Given the description of an element on the screen output the (x, y) to click on. 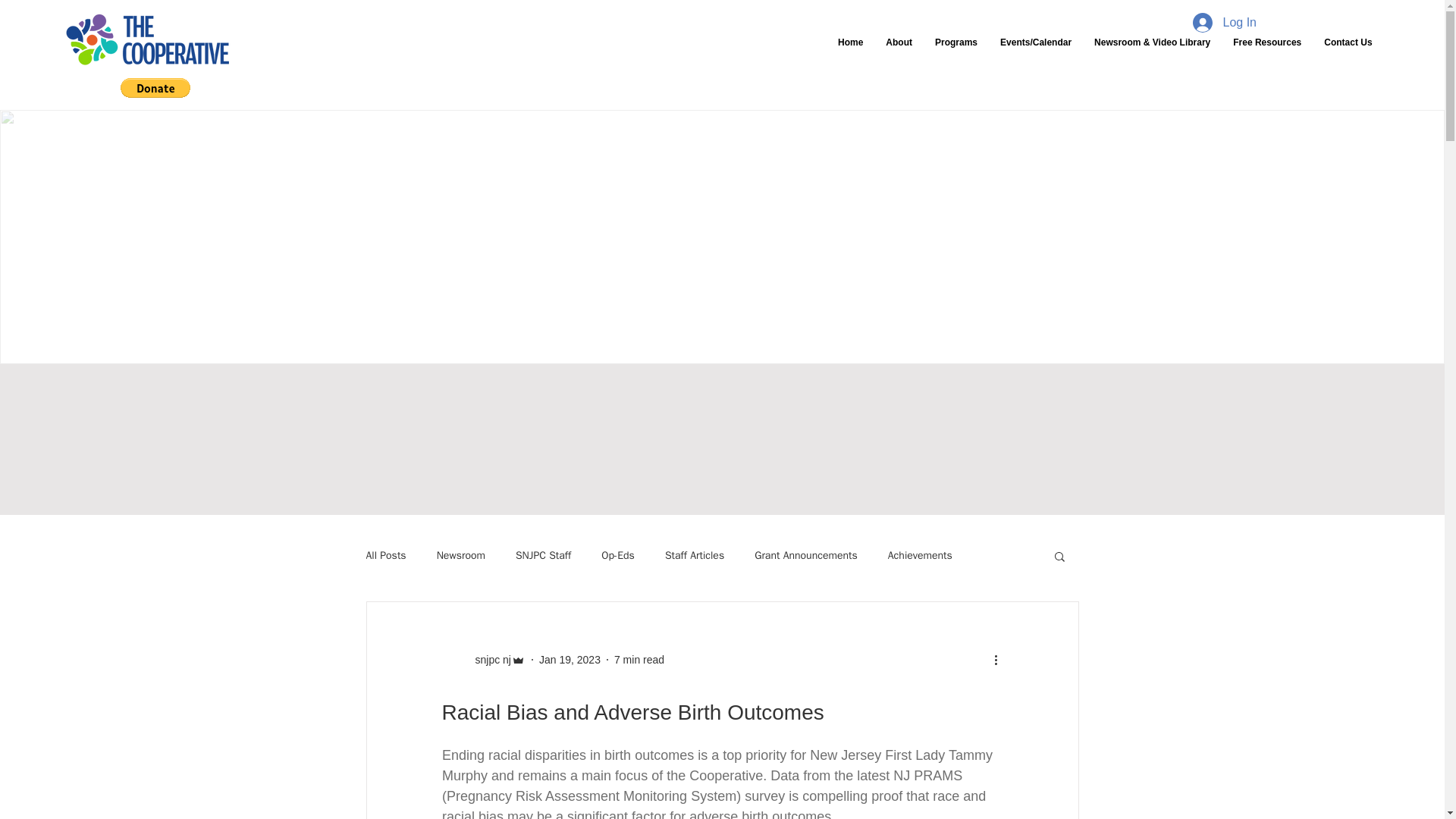
Log In (1224, 22)
snjpc nj (488, 659)
7 min read (638, 659)
Programs (955, 55)
Home (851, 55)
Contact Us (1348, 55)
About (899, 55)
Jan 19, 2023 (568, 659)
Free Resources (1267, 55)
